Given the description of an element on the screen output the (x, y) to click on. 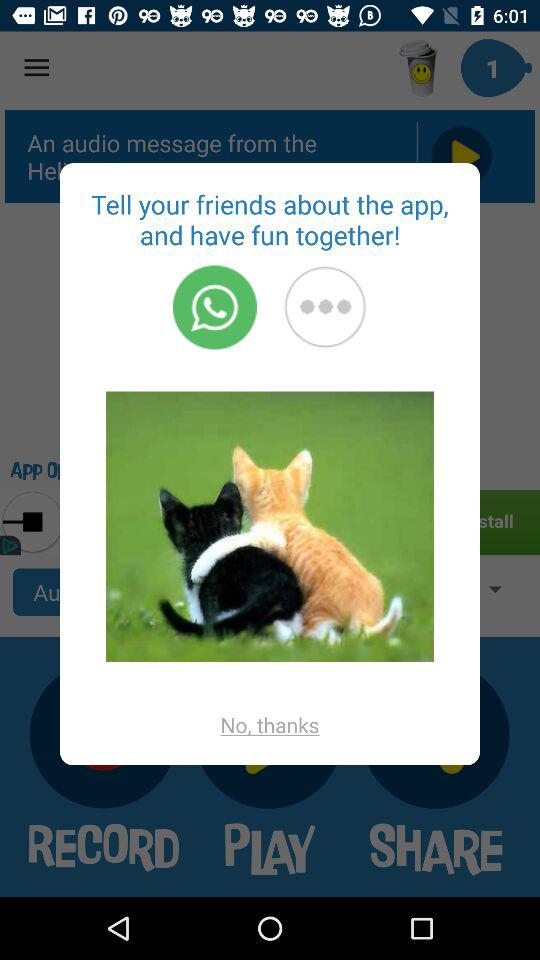
to the setting options (325, 307)
